Given the description of an element on the screen output the (x, y) to click on. 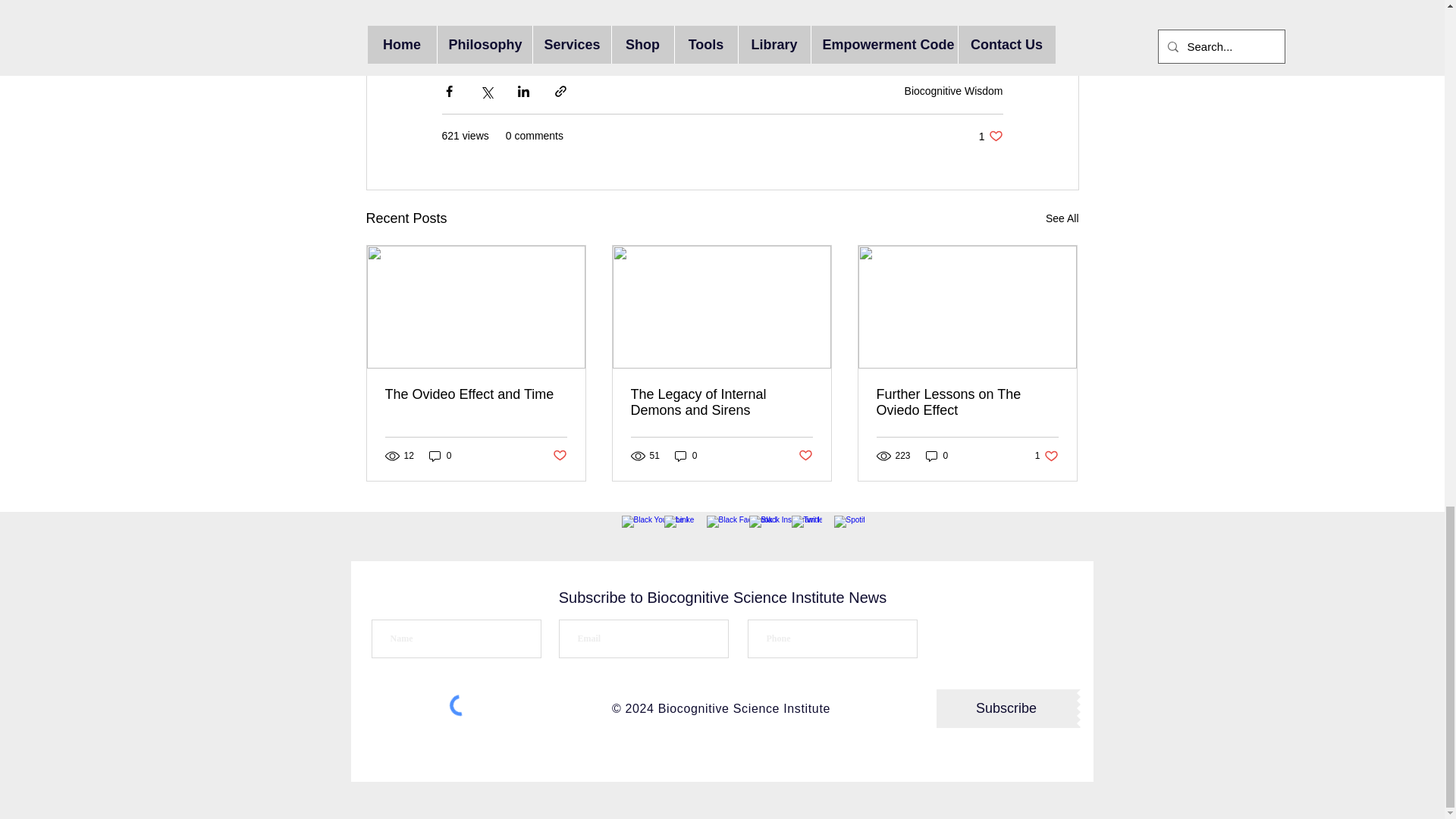
Biocognitive Wisdom (990, 135)
See All (953, 90)
The Drift (1061, 219)
Post not marked as liked (676, 33)
0 (558, 455)
0 (440, 454)
journey (685, 454)
The Legacy of Internal Demons and Sirens (534, 33)
inner world (721, 402)
selfhood (603, 33)
The Ovideo Effect and Time (470, 33)
